Given the description of an element on the screen output the (x, y) to click on. 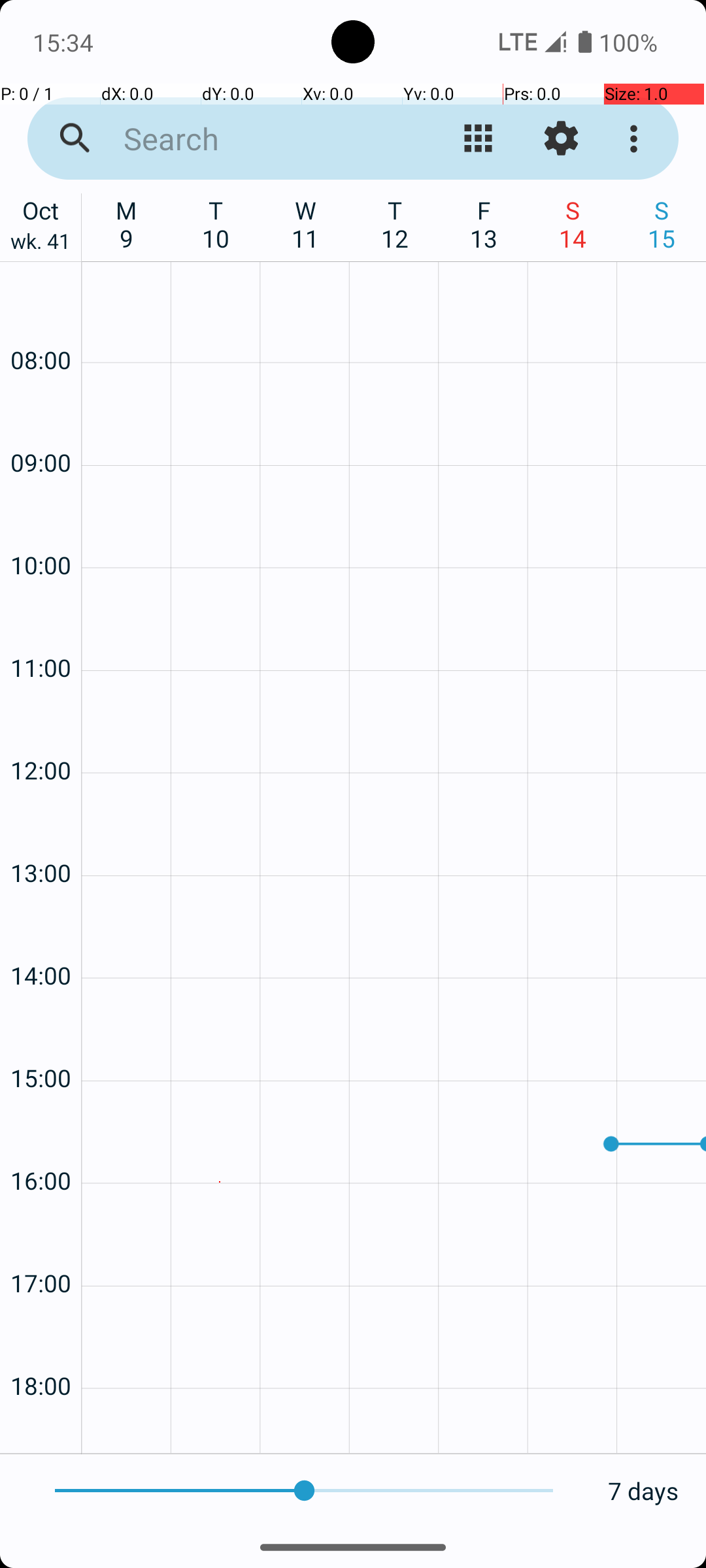
wk. 41 Element type: android.widget.TextView (40, 243)
19:00 Element type: android.widget.TextView (40, 1428)
M
9 Element type: android.widget.TextView (126, 223)
T
10 Element type: android.widget.TextView (215, 223)
W
11 Element type: android.widget.TextView (305, 223)
T
12 Element type: android.widget.TextView (394, 223)
F
13 Element type: android.widget.TextView (483, 223)
S
14 Element type: android.widget.TextView (572, 223)
S
15 Element type: android.widget.TextView (661, 223)
